Given the description of an element on the screen output the (x, y) to click on. 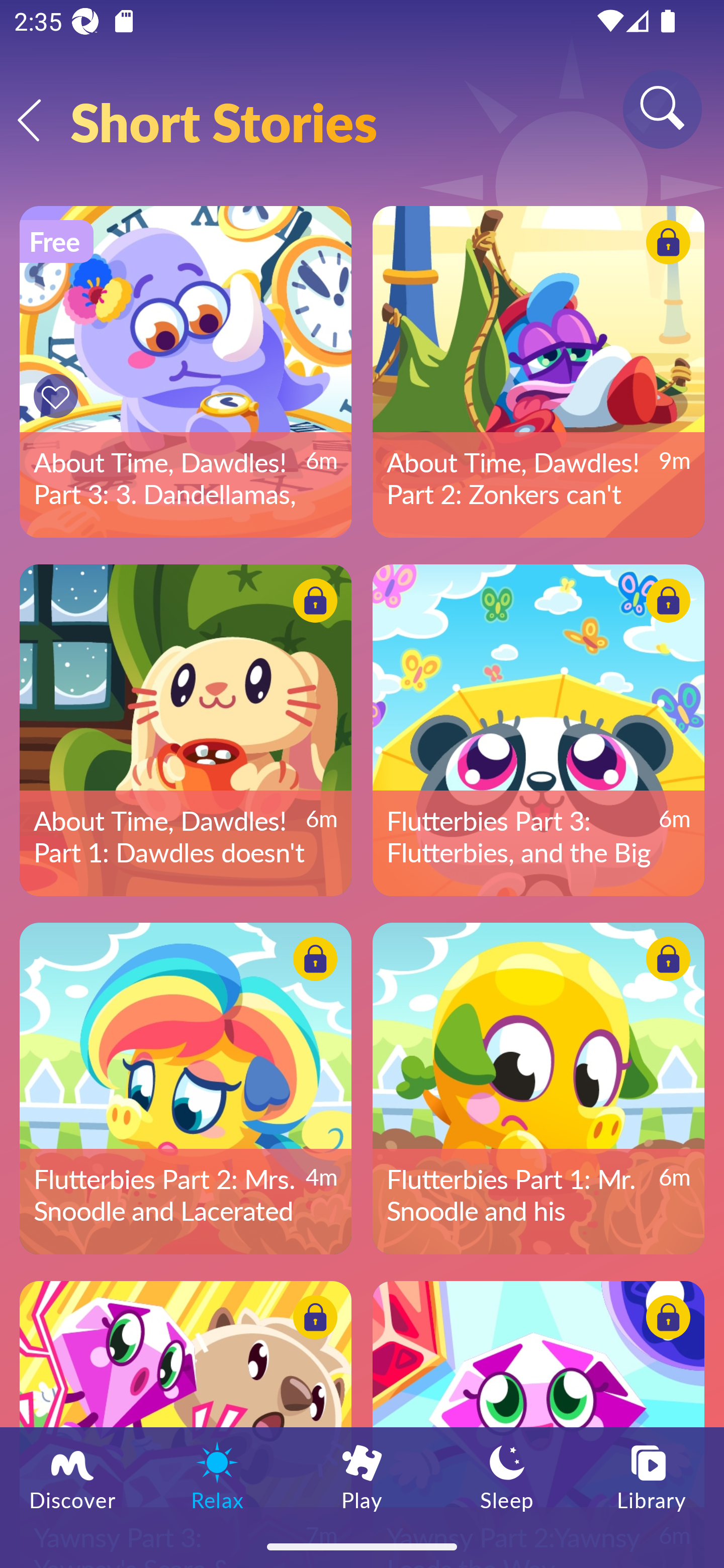
Button (665, 244)
Button (58, 395)
Button (311, 603)
Button (665, 603)
Button (311, 960)
Button (665, 960)
Button (311, 1320)
Button (665, 1320)
Discover (72, 1475)
Play (361, 1475)
Sleep (506, 1475)
Library (651, 1475)
